Given the description of an element on the screen output the (x, y) to click on. 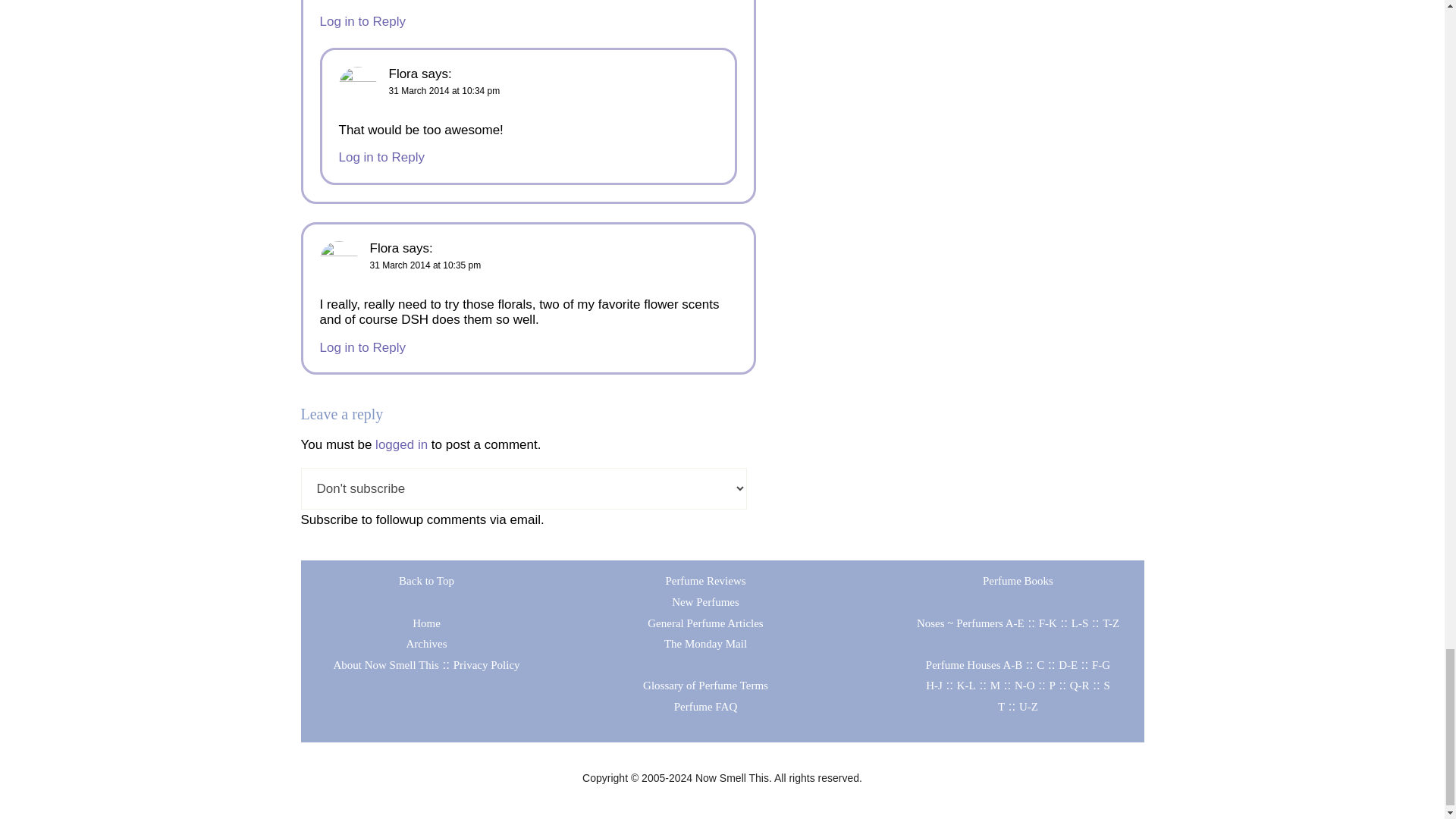
Log in to Reply (363, 21)
